Given the description of an element on the screen output the (x, y) to click on. 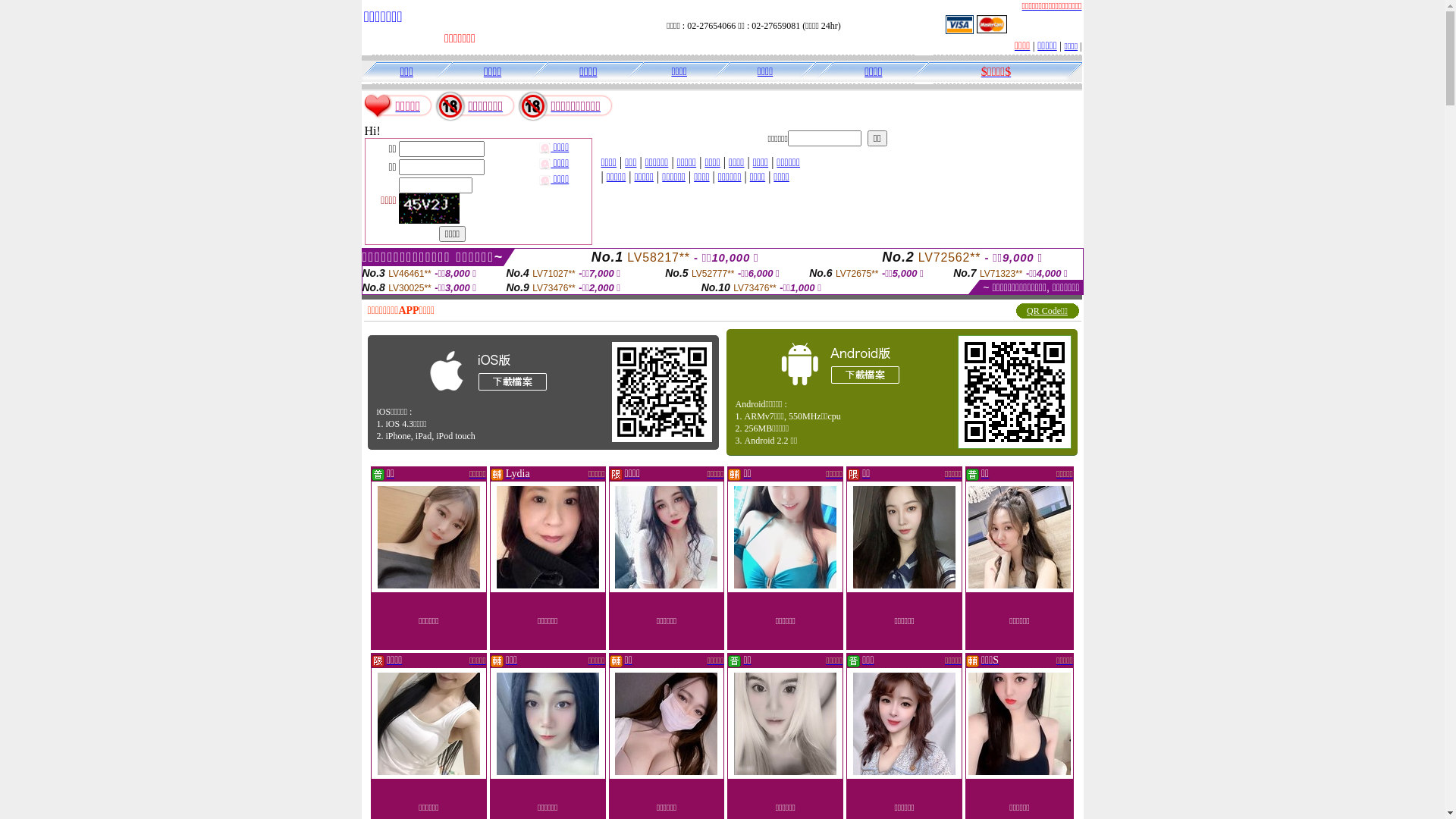
Lydia Element type: text (517, 473)
